Given the description of an element on the screen output the (x, y) to click on. 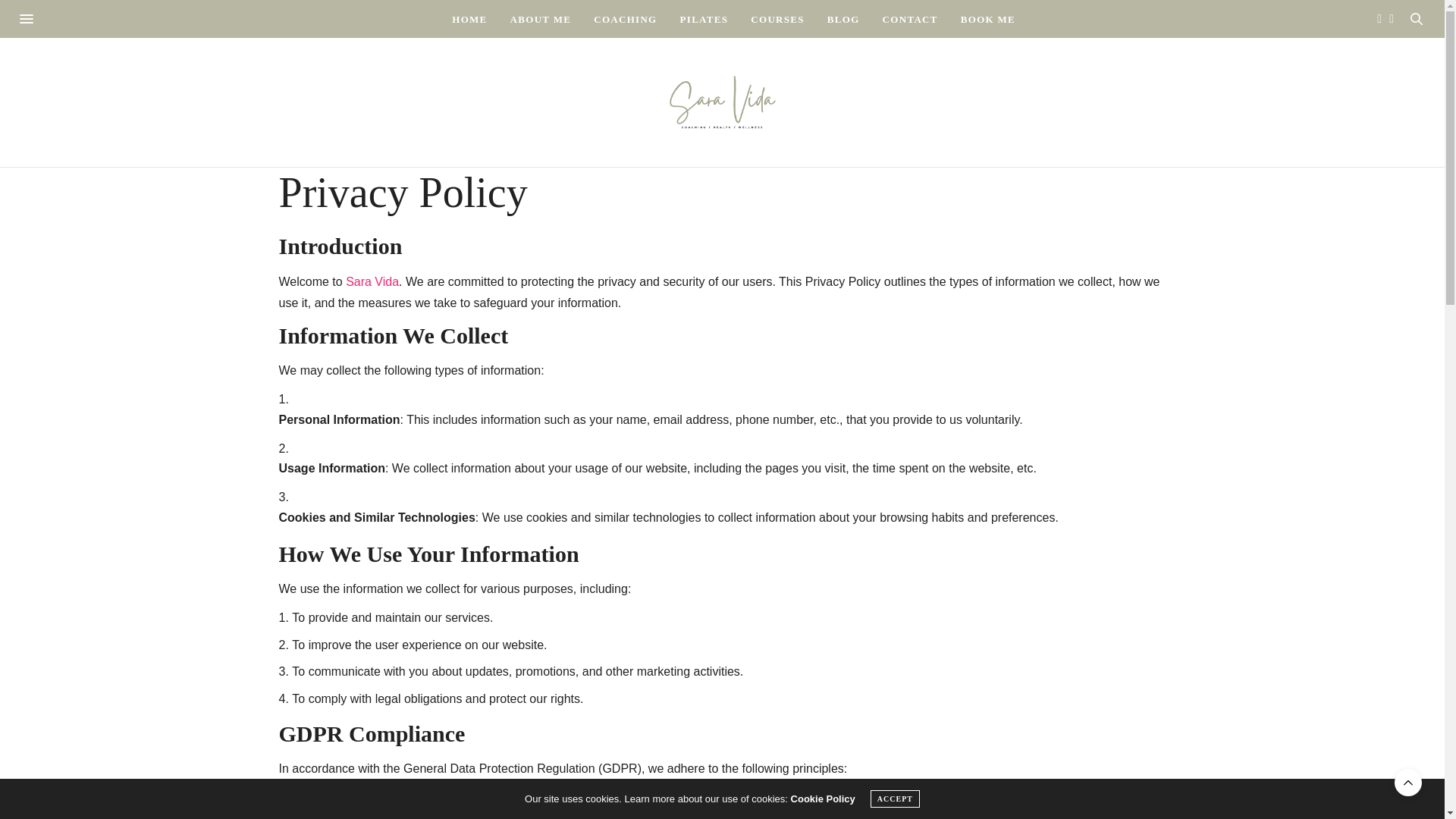
ABOUT ME (541, 18)
Scroll To Top (1408, 782)
BOOK ME (987, 18)
PILATES (704, 18)
Sara Vida (372, 281)
COACHING (625, 18)
CONTACT (909, 18)
COURSES (778, 18)
Sara Vida (721, 102)
